Given the description of an element on the screen output the (x, y) to click on. 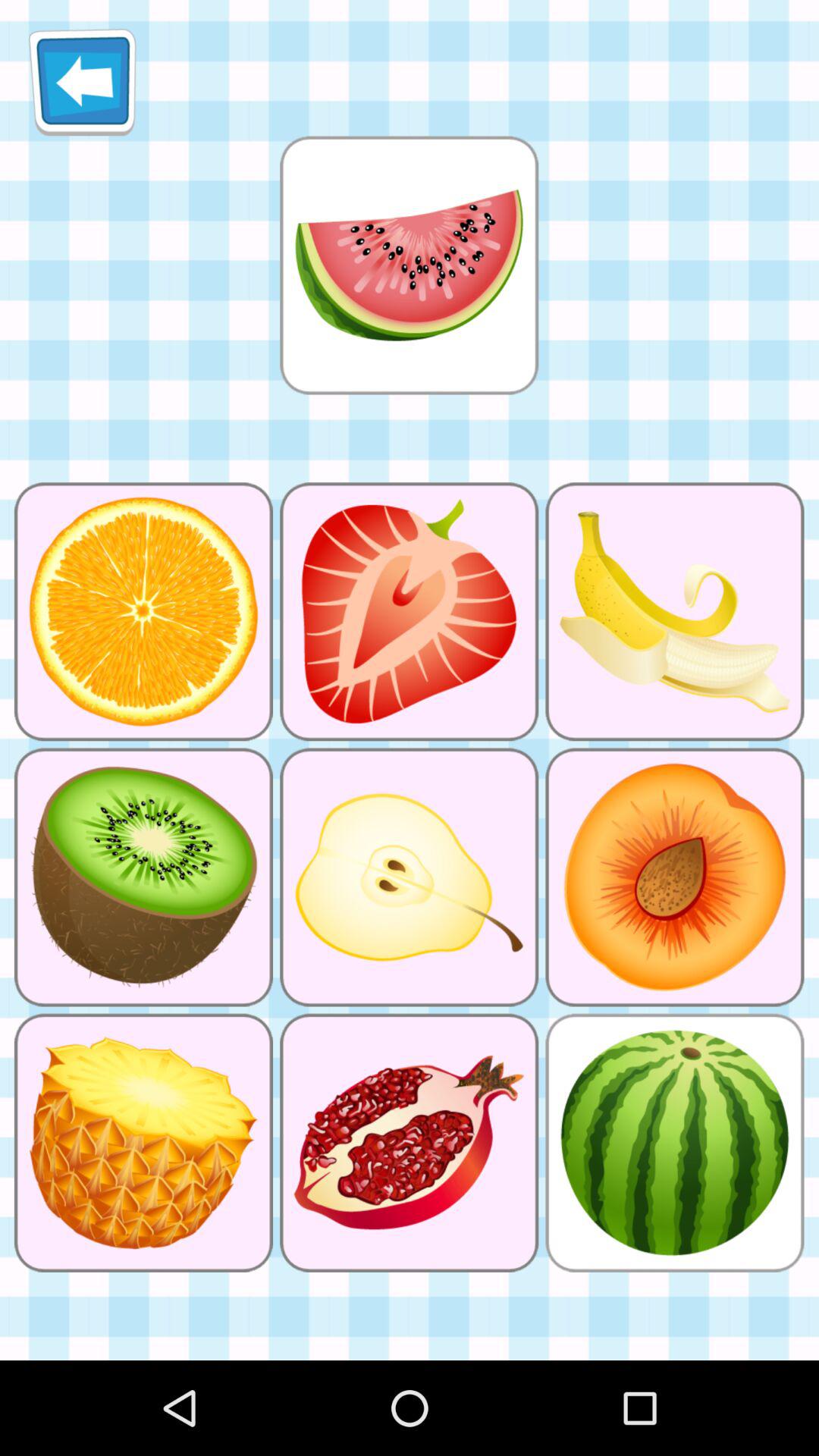
open the icon at the top (409, 265)
